Given the description of an element on the screen output the (x, y) to click on. 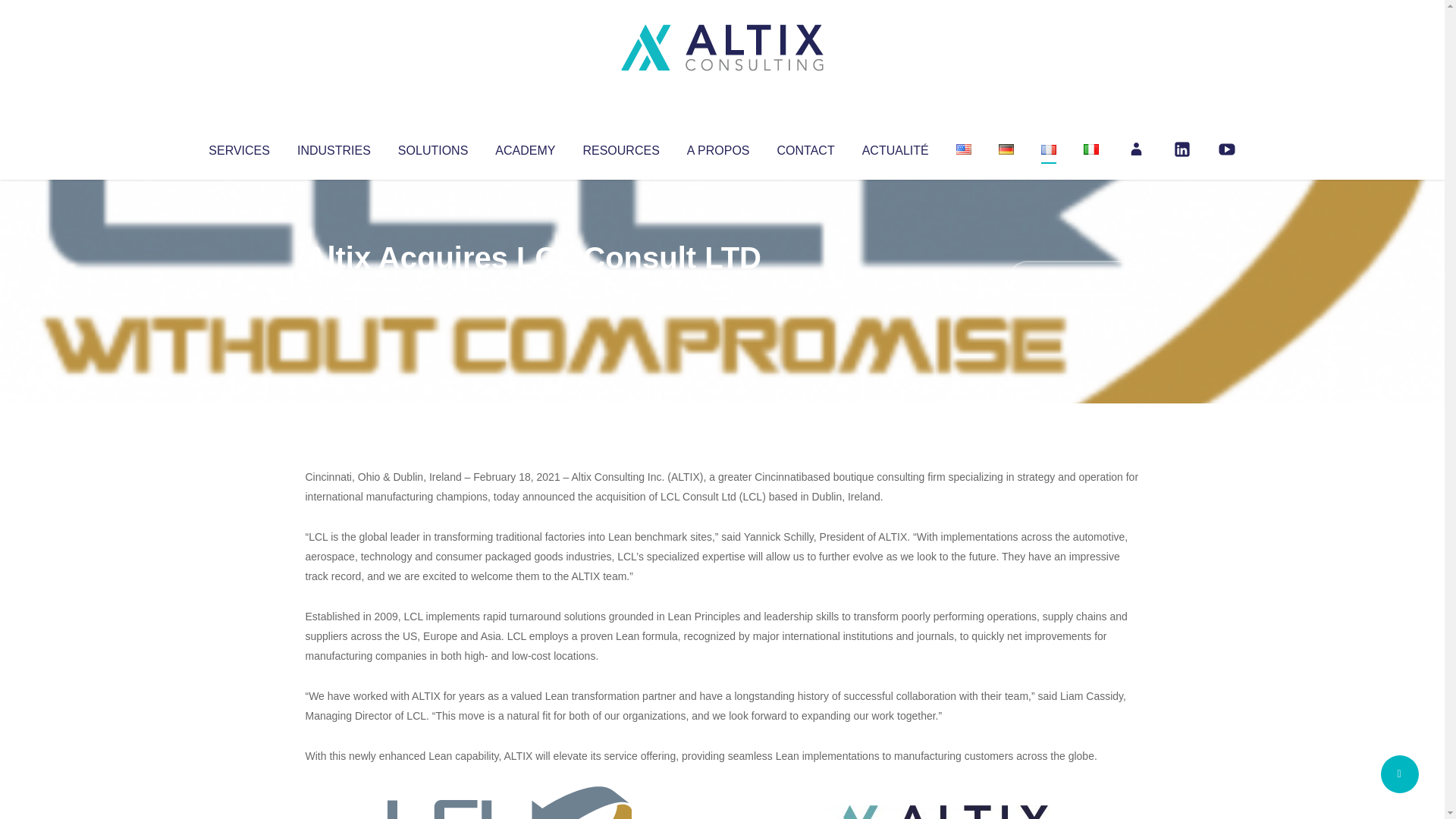
Articles par Altix (333, 287)
RESOURCES (620, 146)
SERVICES (238, 146)
Altix (333, 287)
SOLUTIONS (432, 146)
Uncategorized (530, 287)
ACADEMY (524, 146)
No Comments (1073, 278)
INDUSTRIES (334, 146)
A PROPOS (718, 146)
